Given the description of an element on the screen output the (x, y) to click on. 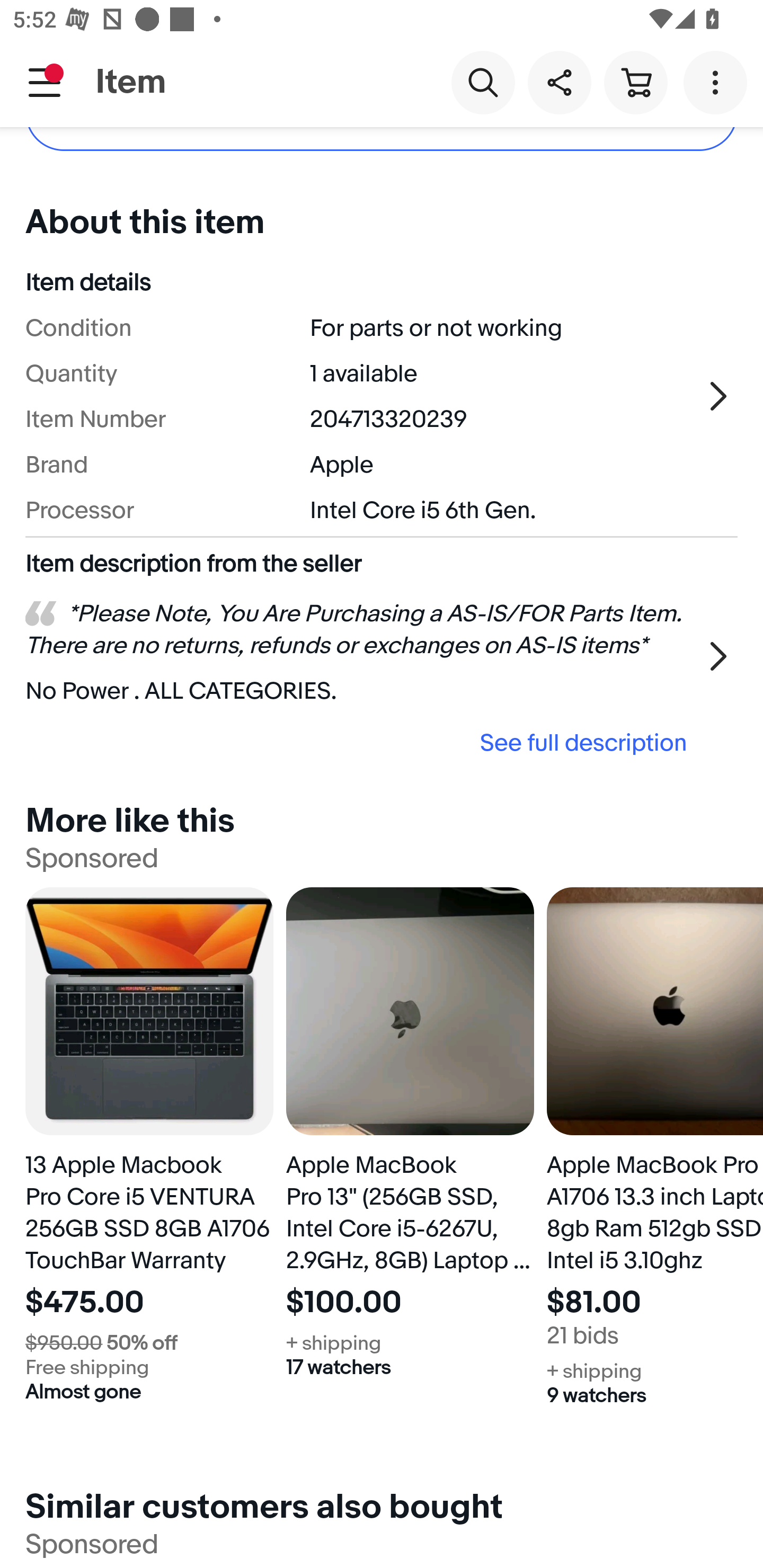
Main navigation, notification is pending, open (44, 82)
Search (482, 81)
Share this item (559, 81)
Cart button shopping cart (635, 81)
More options (718, 81)
See full description (362, 742)
